Given the description of an element on the screen output the (x, y) to click on. 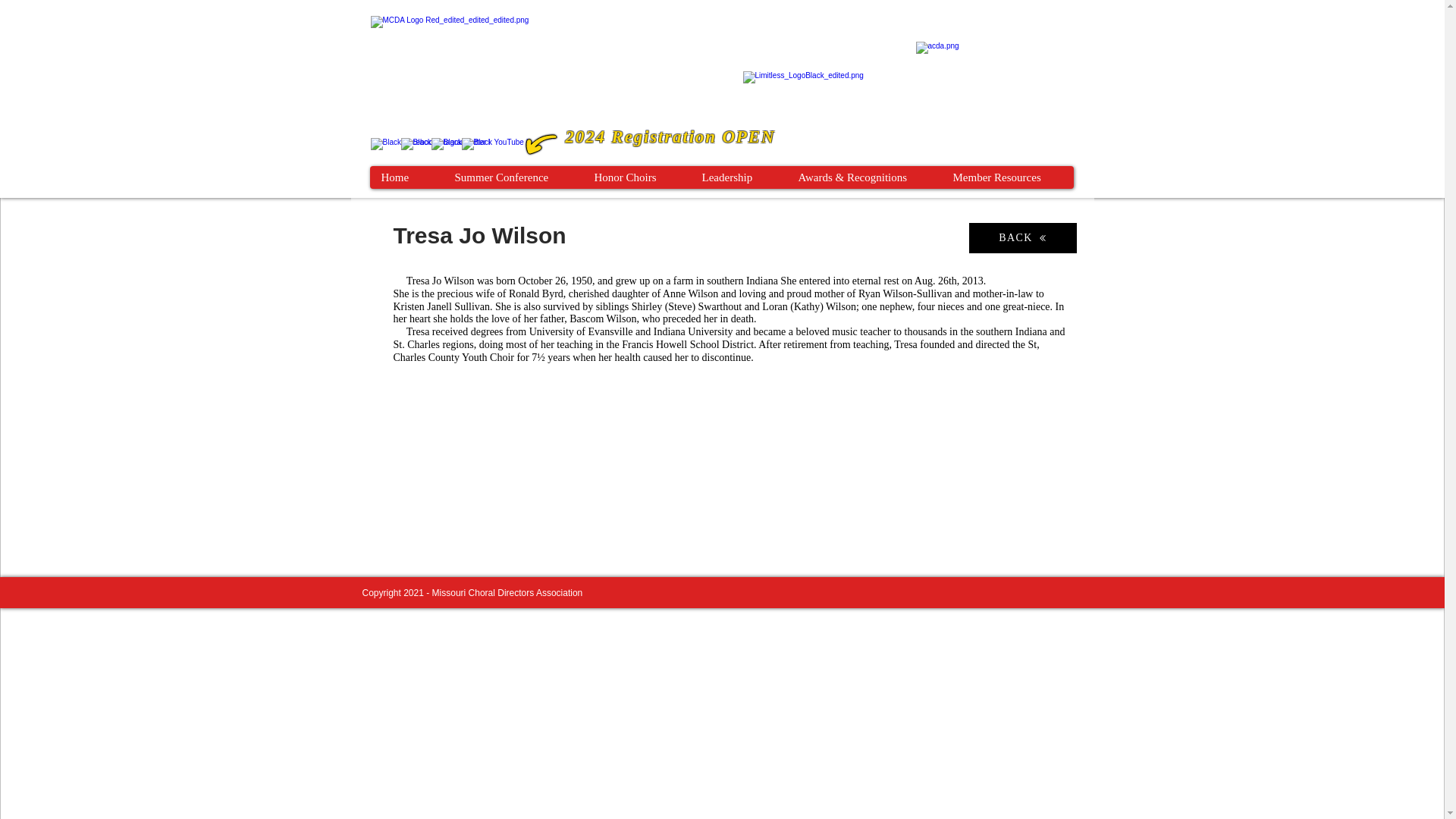
Home (405, 177)
BACK (1023, 237)
Summer Conference (512, 177)
Member Resources (1006, 177)
